Given the description of an element on the screen output the (x, y) to click on. 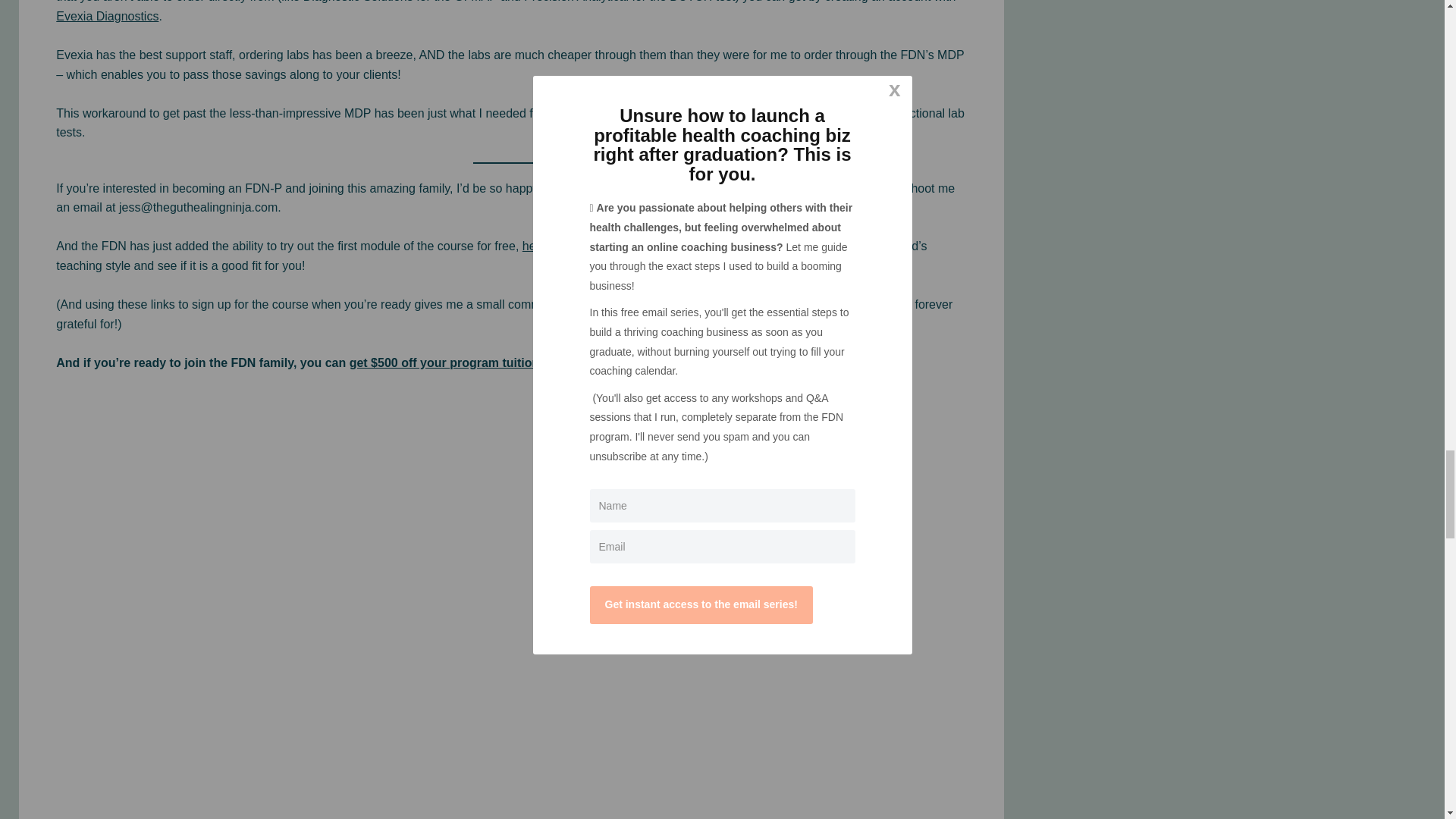
Evexia Diagnostics (107, 15)
